Given the description of an element on the screen output the (x, y) to click on. 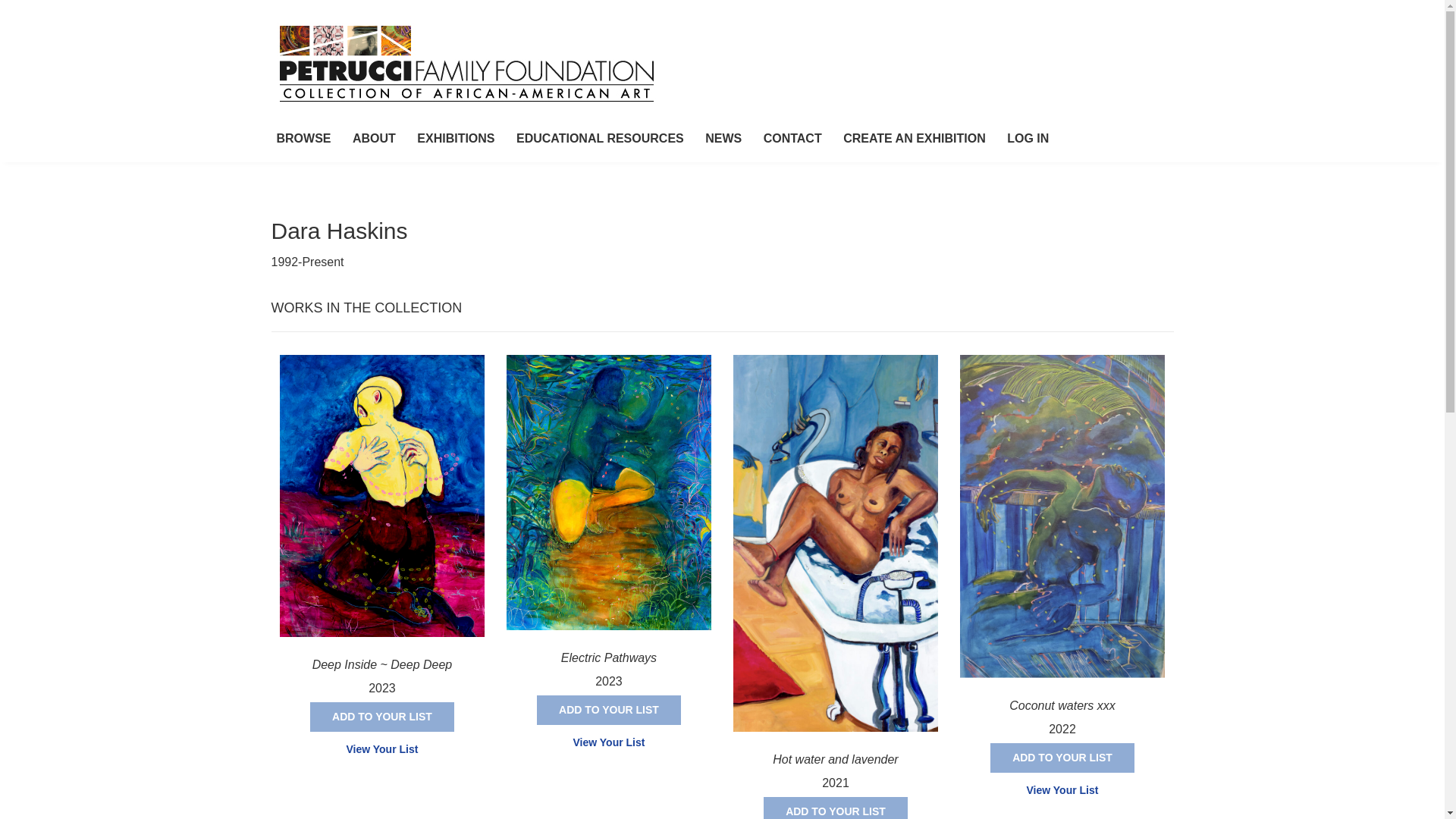
View Your List (608, 742)
NEWS (723, 140)
ABOUT (373, 140)
CREATE AN EXHIBITION (914, 140)
View Your List (381, 749)
ADD TO YOUR LIST (609, 709)
CONTACT (792, 140)
EXHIBITIONS (455, 140)
EDUCATIONAL RESOURCES (599, 140)
ADD TO YOUR LIST (382, 716)
LOG IN (1027, 140)
ADD TO YOUR LIST (834, 807)
ADD TO YOUR LIST (1062, 757)
BROWSE (302, 140)
